Given the description of an element on the screen output the (x, y) to click on. 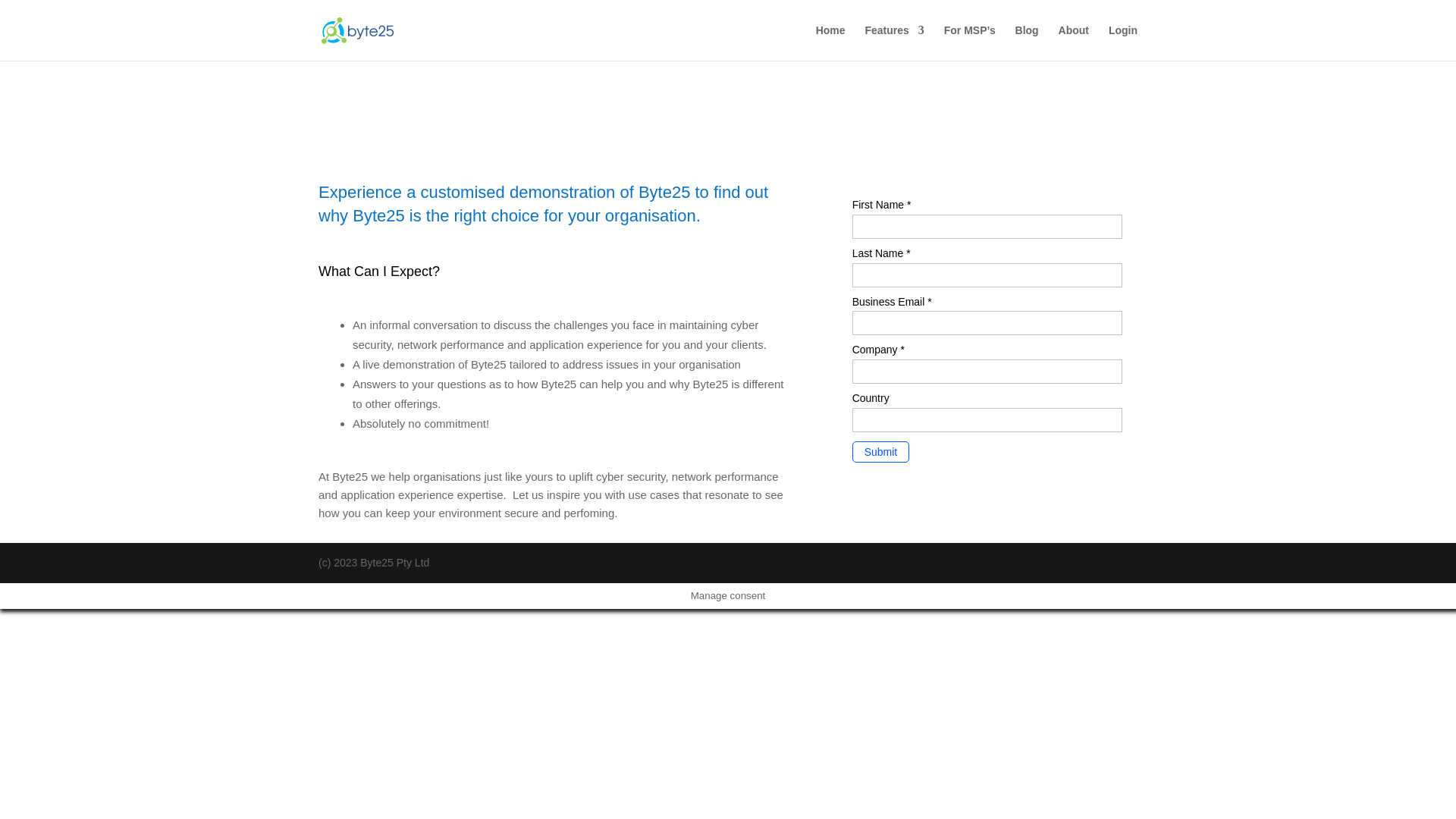
Submit (880, 451)
Features (893, 42)
Submit (880, 451)
